Given the description of an element on the screen output the (x, y) to click on. 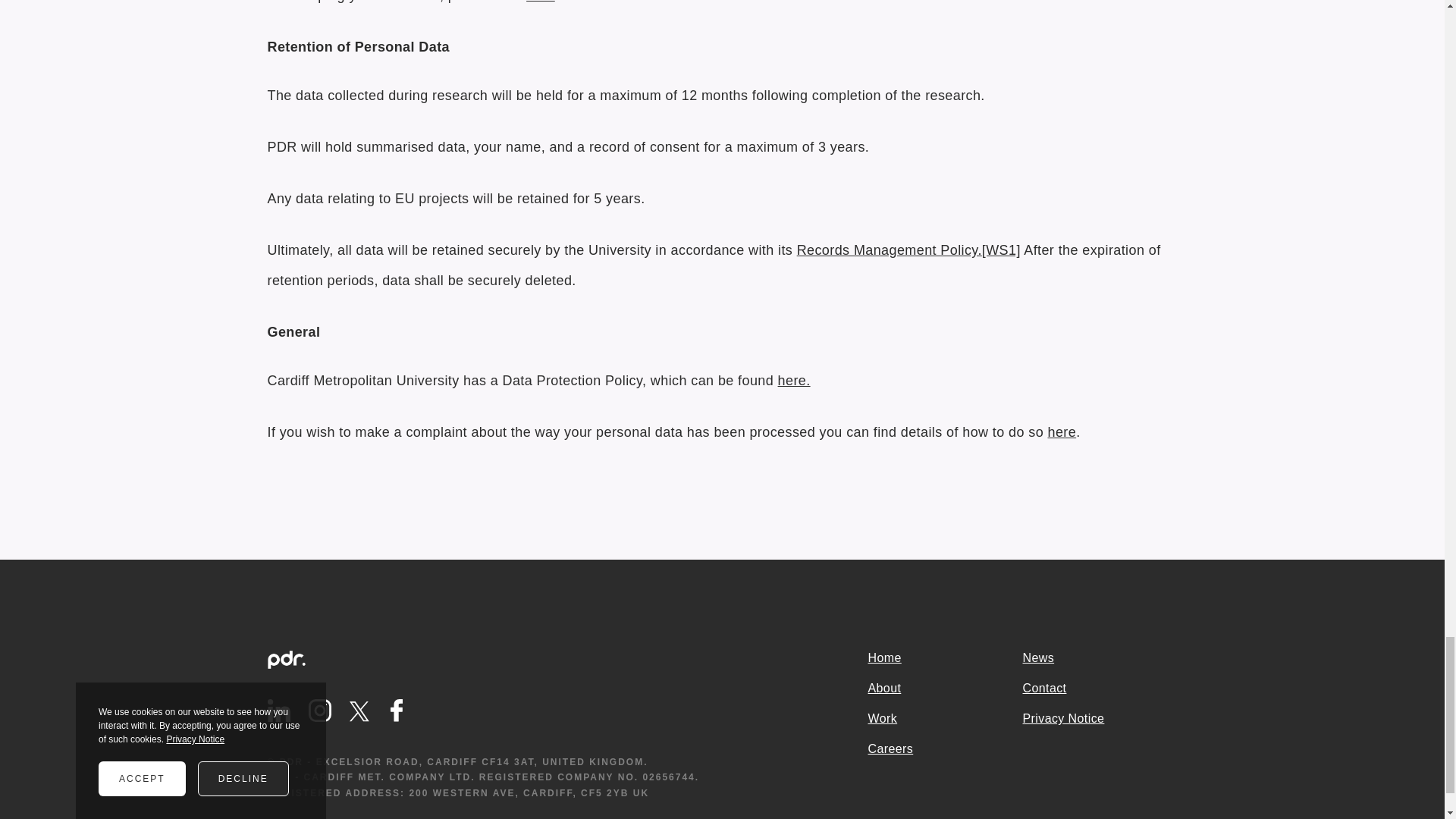
Records Management Policy. (888, 249)
here (539, 1)
here. (793, 380)
Careers (944, 749)
About (944, 688)
Work (944, 718)
Home (944, 657)
here (1062, 432)
